Given the description of an element on the screen output the (x, y) to click on. 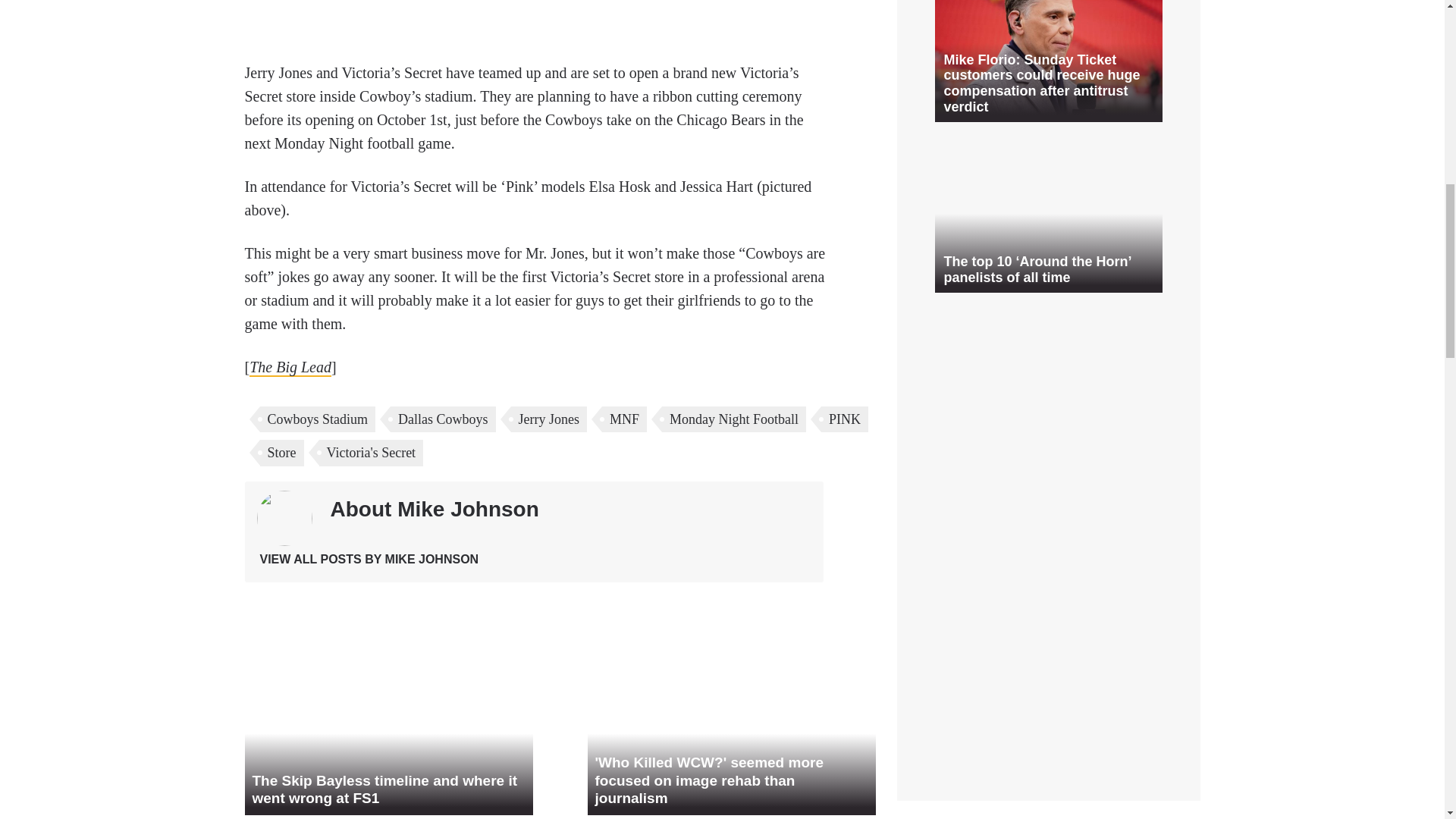
Victoria's Secret (370, 452)
The Skip Bayless timeline and where it went wrong at FS1 (388, 736)
Store (280, 452)
MNF (624, 419)
VIEW ALL POSTS BY MIKE JOHNSON (369, 558)
The Big Lead (289, 367)
Cowboys Stadium (317, 419)
Monday Night Football (734, 419)
PINK (844, 419)
Dallas Cowboys (443, 419)
Jerry Jones (548, 419)
